Given the description of an element on the screen output the (x, y) to click on. 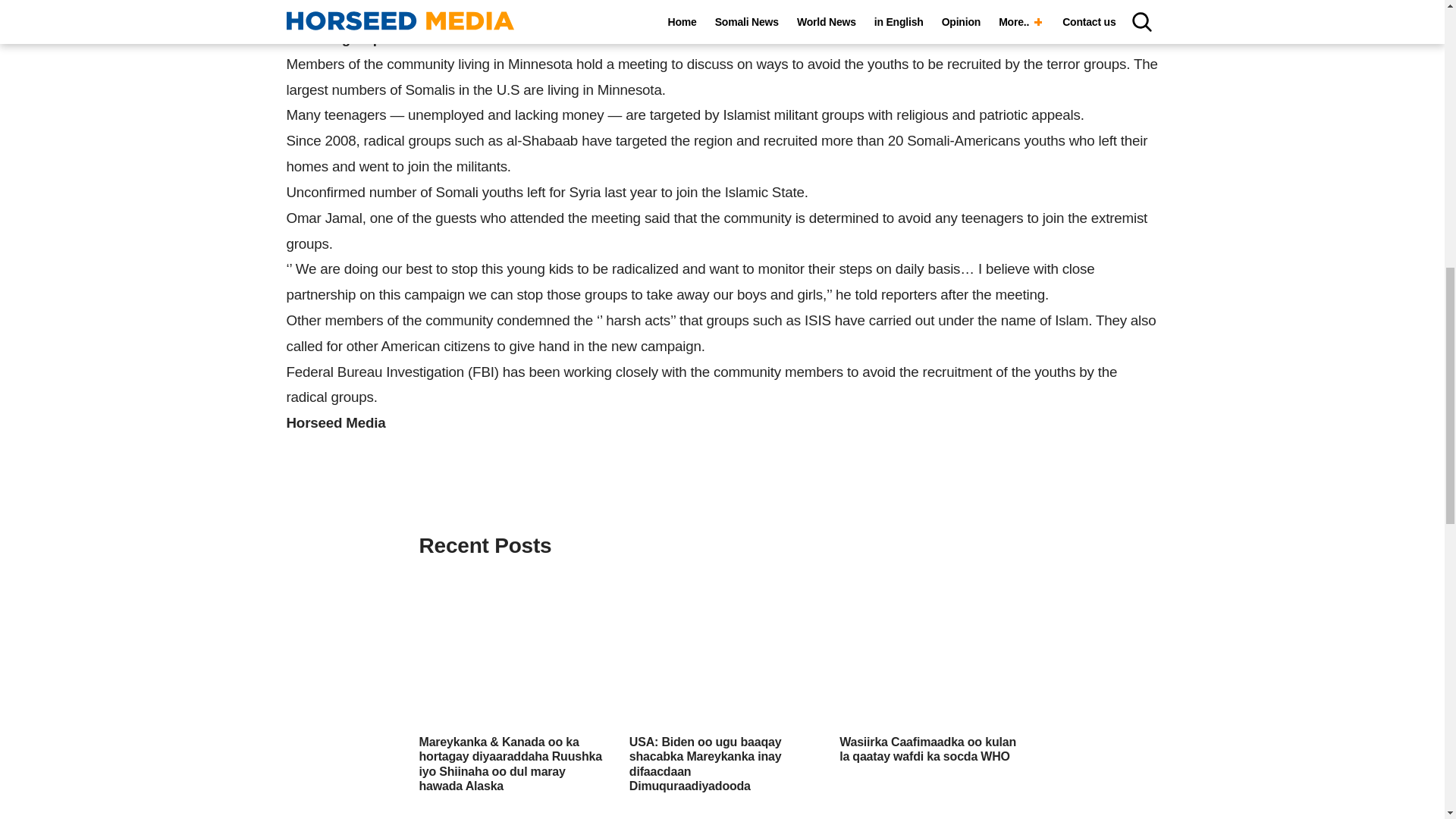
Wasiirka Caafimaadka oo kulan la qaatay wafdi ka socda WHO (928, 748)
